Given the description of an element on the screen output the (x, y) to click on. 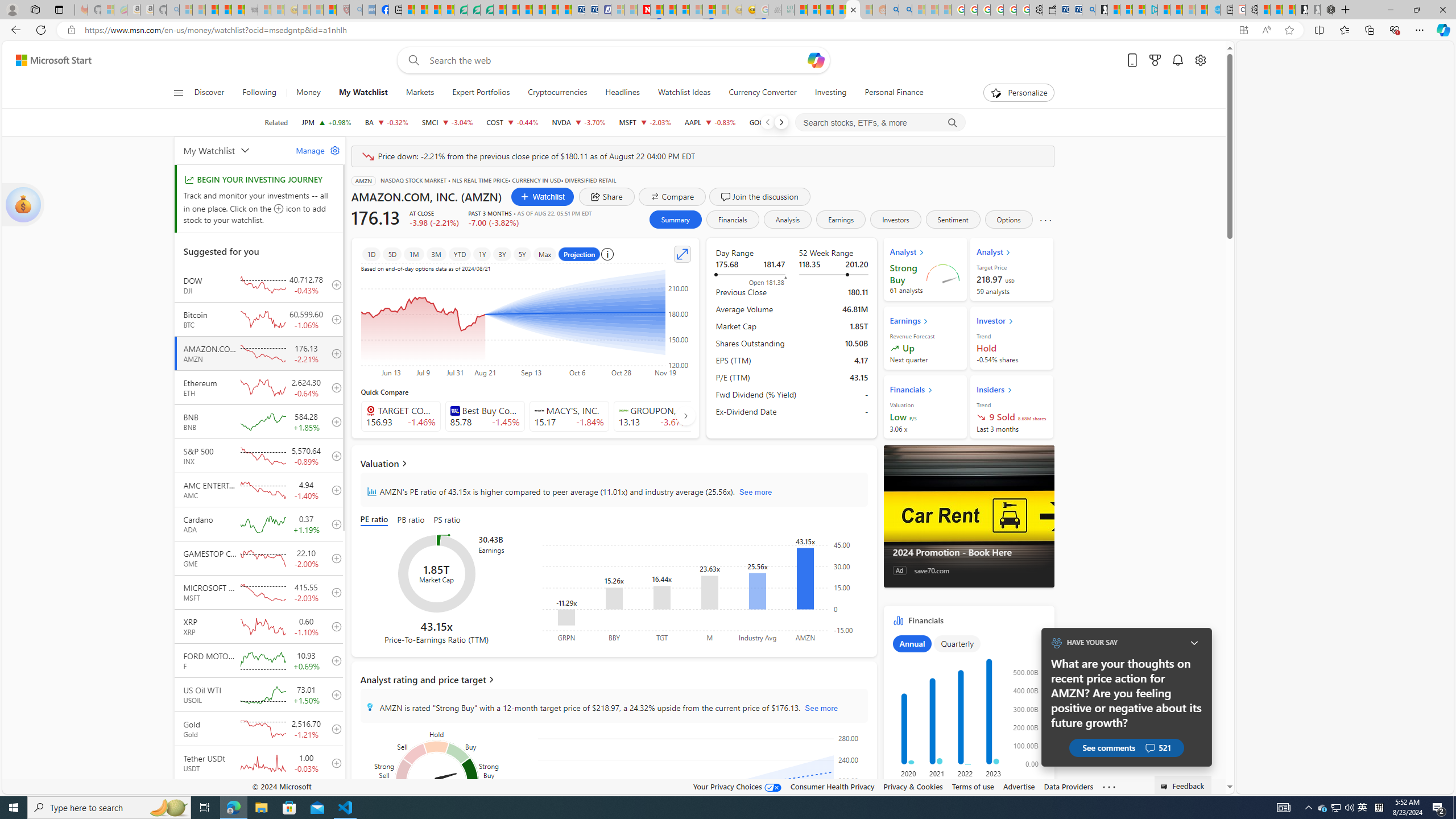
Compare (671, 196)
AAPL APPLE INC. decrease 224.53 -1.87 -0.83% (709, 122)
Class: chartSvg (966, 712)
Local - MSN (329, 9)
3Y (502, 254)
